Given the description of an element on the screen output the (x, y) to click on. 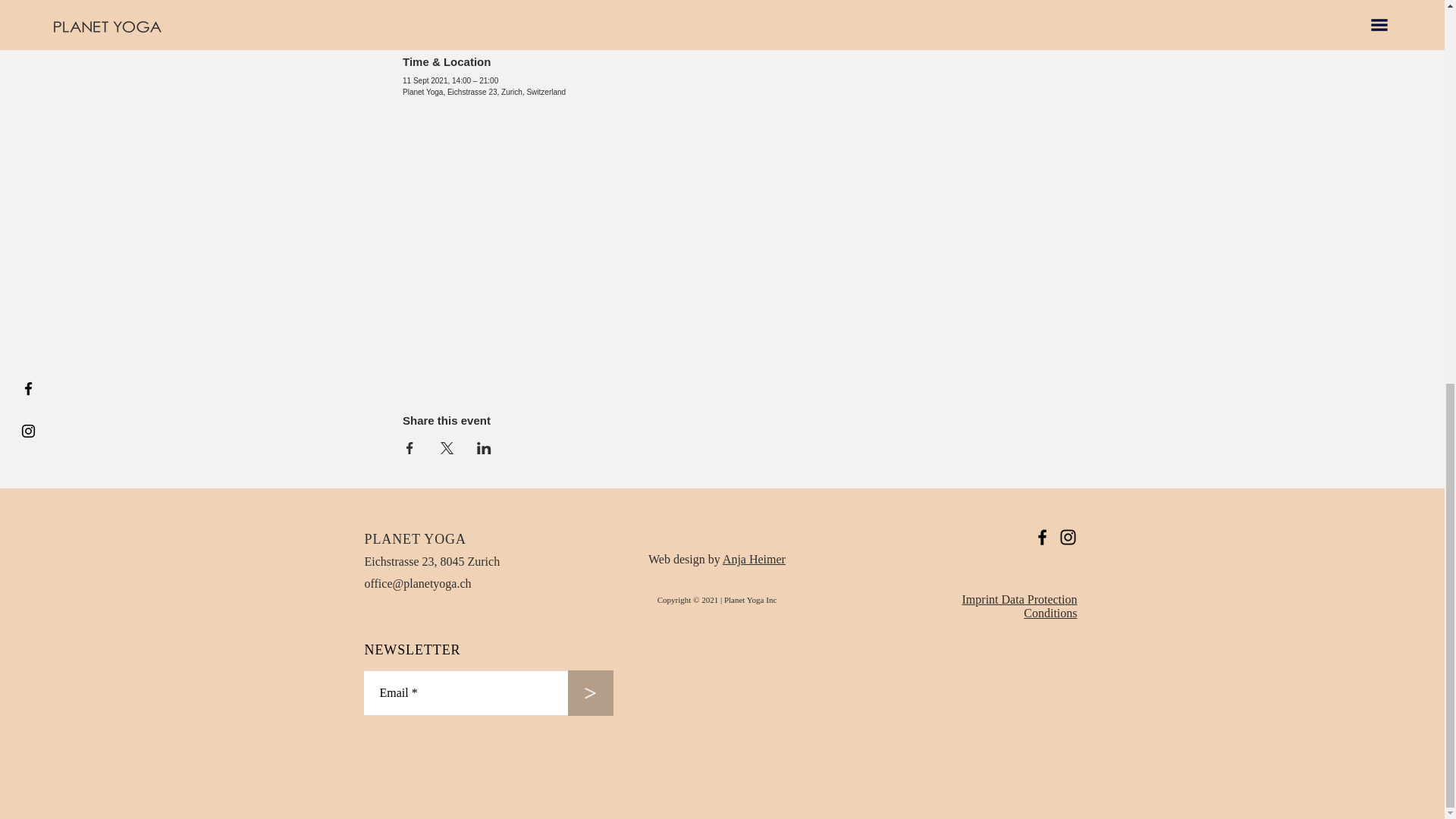
Conditions (1050, 612)
Imprint Data Protection (1019, 599)
Anja Heimer (754, 558)
